Given the description of an element on the screen output the (x, y) to click on. 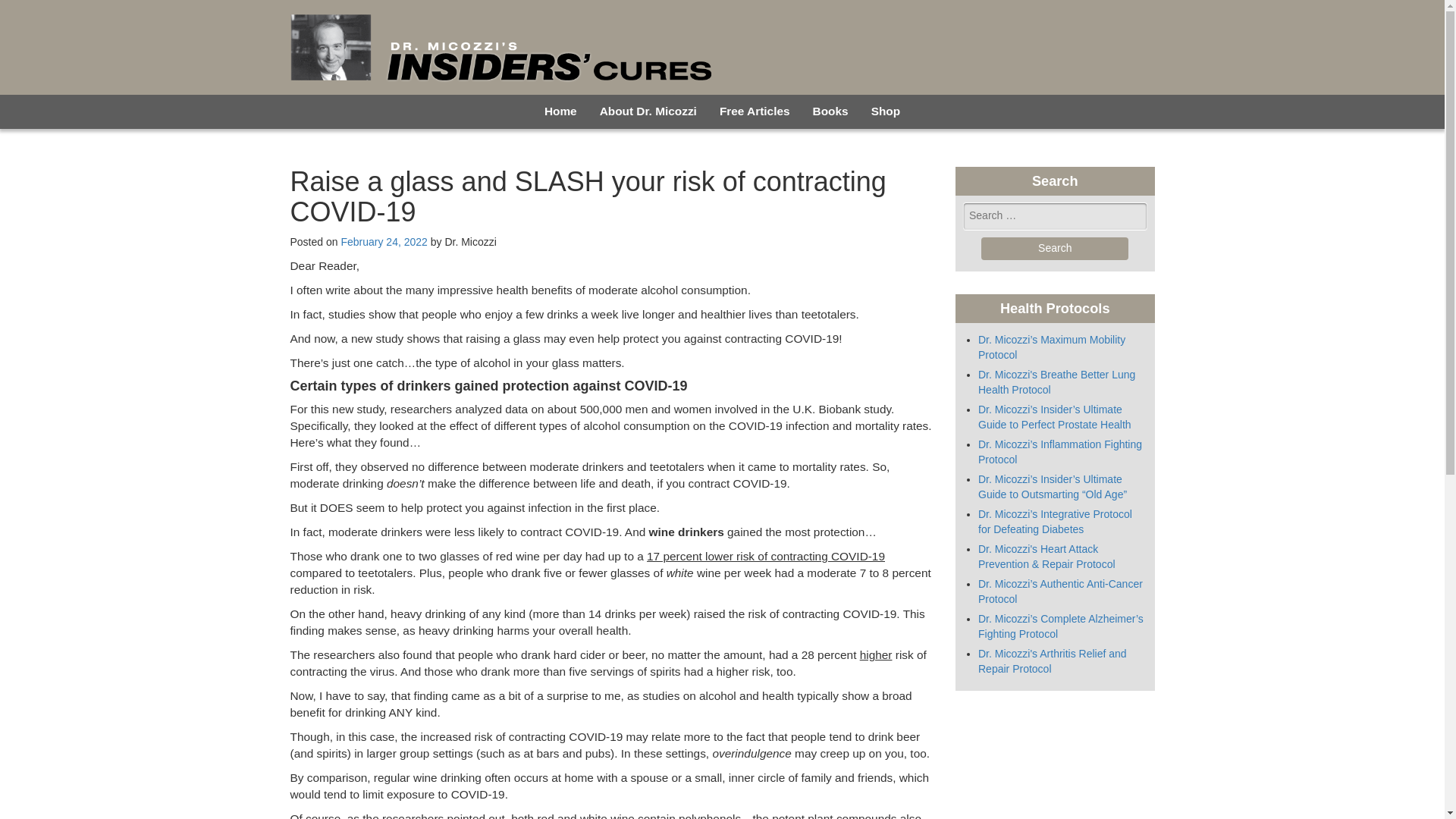
Shop (885, 111)
Home (560, 111)
Books (831, 111)
Search (1054, 248)
Free Articles (754, 111)
Dr. Micozzi's Arthritis Relief and Repair Protocol (1052, 660)
Dr. Micozzi's Breathe Better Lung Health Protocol (1056, 381)
Search (1054, 248)
February 24, 2022 (383, 241)
About Dr. Micozzi (647, 111)
Books (831, 111)
Home (560, 111)
Shop (885, 111)
Free Articles (754, 111)
About Dr. Micozzi (647, 111)
